Given the description of an element on the screen output the (x, y) to click on. 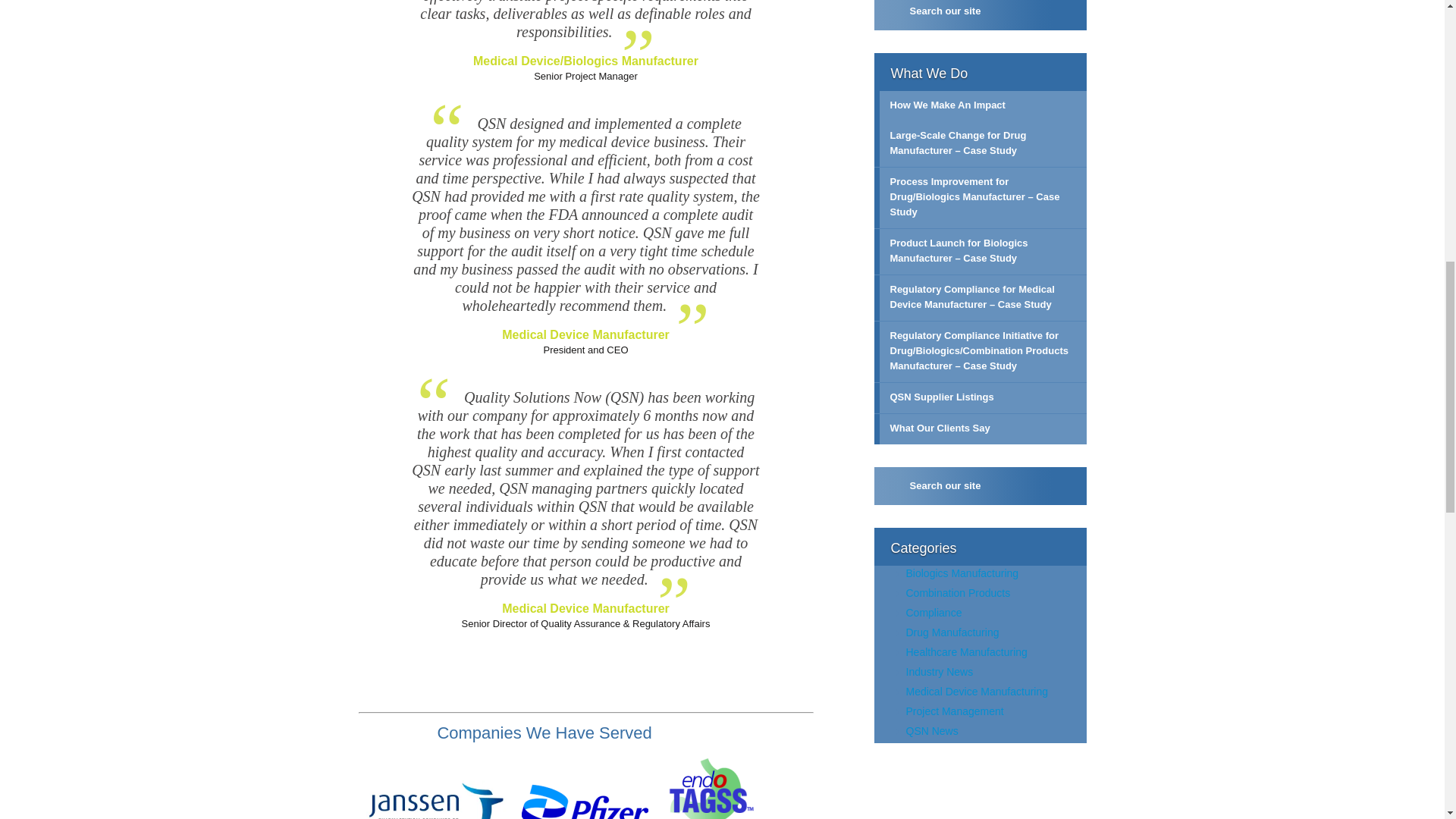
Search our site (979, 485)
Search (1067, 12)
Search our site (979, 15)
search-field (979, 15)
How We Make An Impact (979, 105)
search-field (979, 485)
Search (1067, 485)
Search (1067, 12)
QSN Supplier Listings (979, 398)
